Given the description of an element on the screen output the (x, y) to click on. 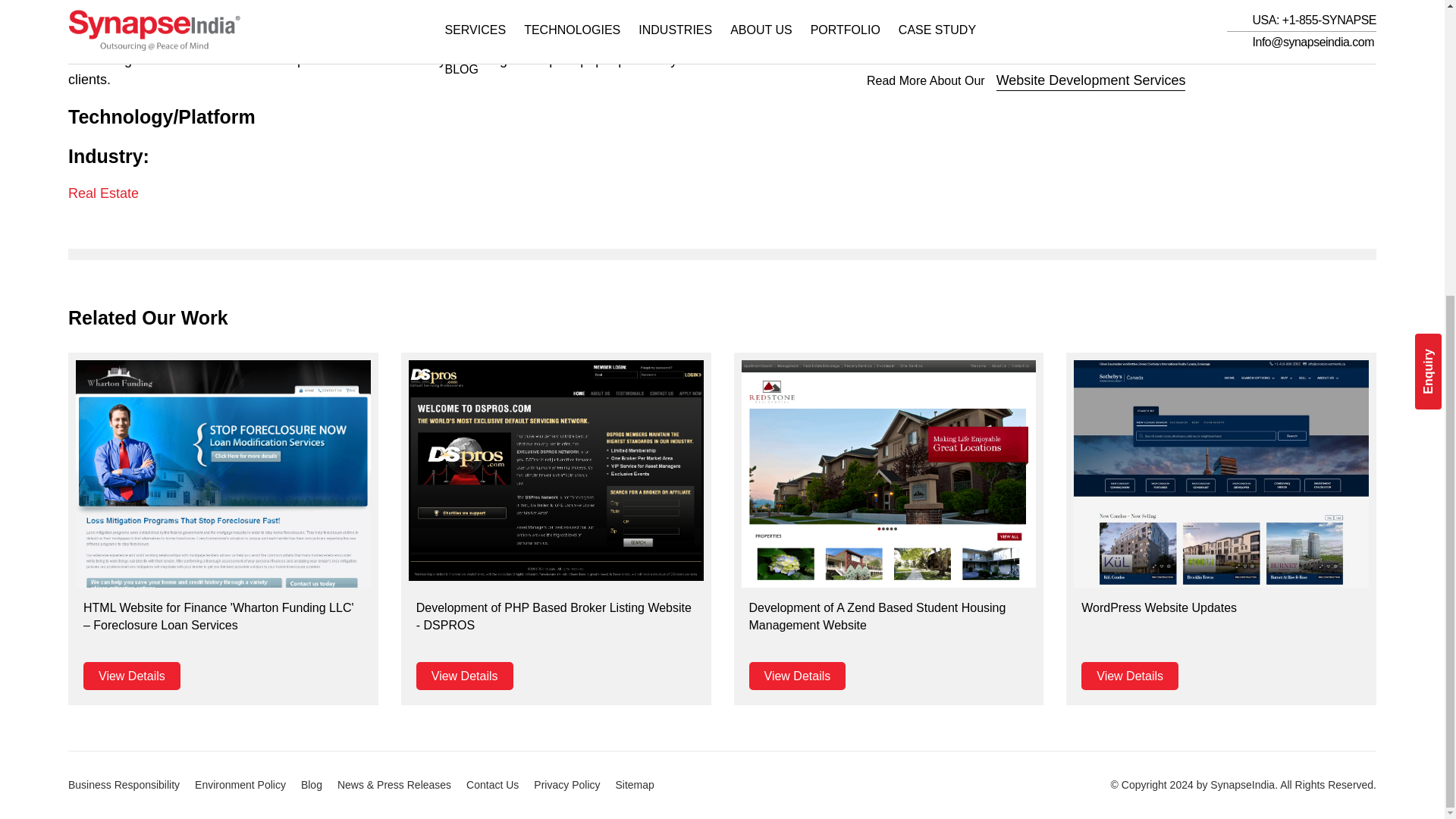
Website Development Services (1090, 80)
Environment Policy (248, 784)
Real Estate (103, 192)
Blog (319, 784)
View Details (1129, 675)
View Details (131, 675)
Development of PHP Based Broker Listing Website - DSPROS (556, 470)
WordPress Website Updates (1221, 519)
View Details (797, 675)
Business Responsibility (131, 784)
